Given the description of an element on the screen output the (x, y) to click on. 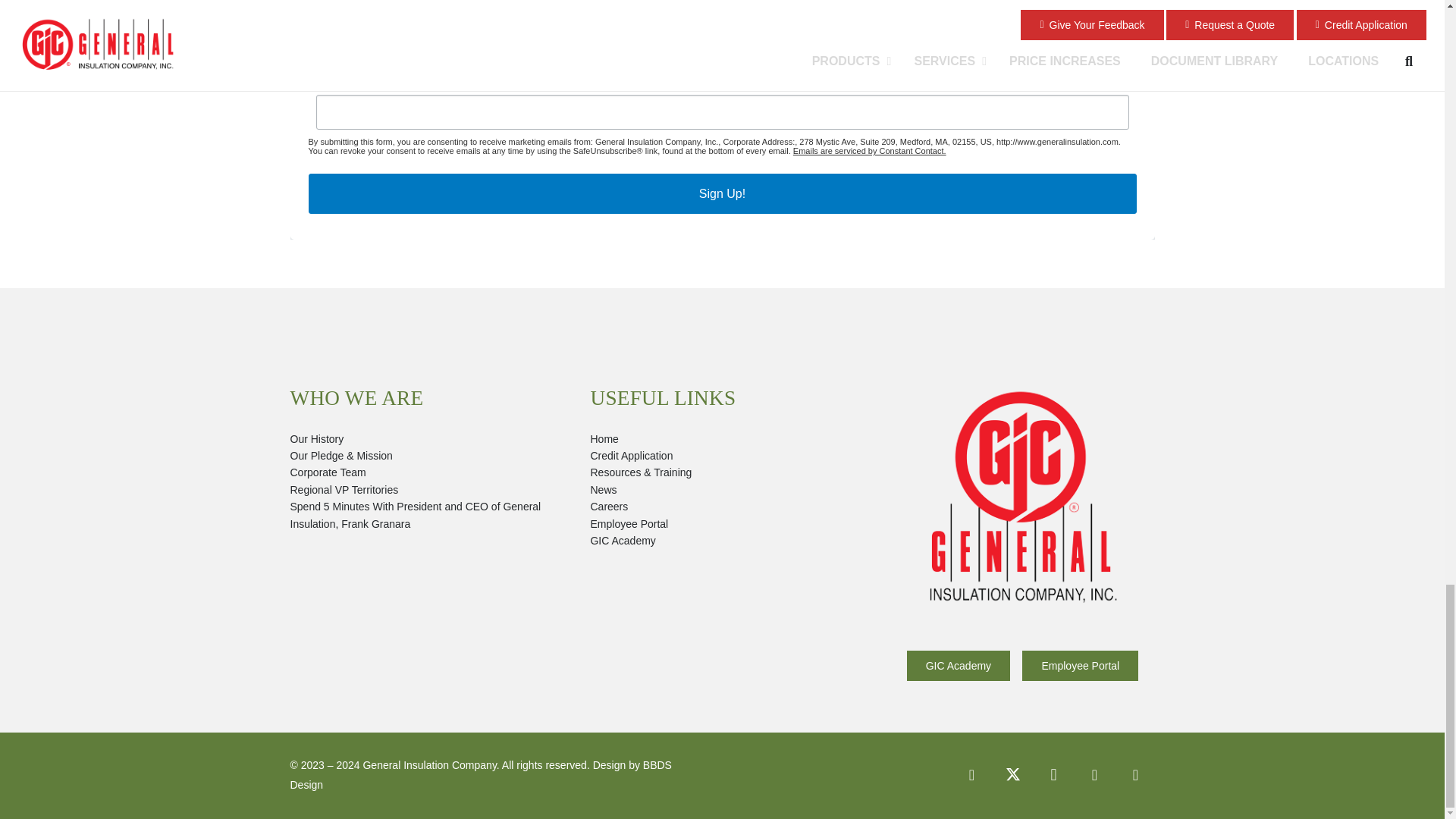
Facebook (971, 774)
Twitter (1011, 774)
YouTube (1135, 774)
LinkedIn (1094, 774)
Instagram (1052, 774)
